Given the description of an element on the screen output the (x, y) to click on. 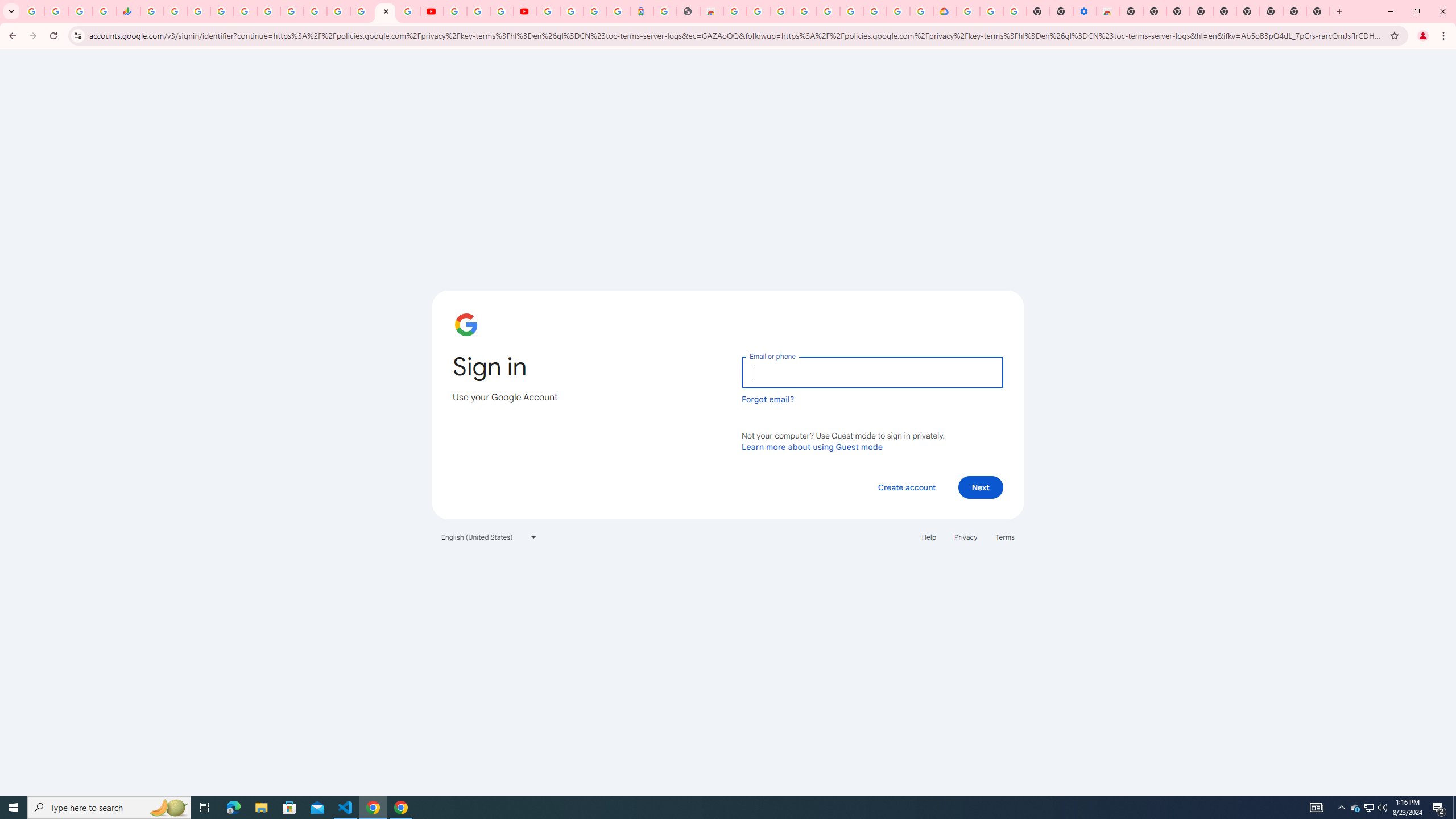
Google Account Help (850, 11)
Sign in - Google Accounts (221, 11)
Sign in - Google Accounts (384, 11)
Google Account Help (478, 11)
Sign in - Google Accounts (827, 11)
New Tab (1318, 11)
Sign in - Google Accounts (571, 11)
Ad Settings (804, 11)
Sign in - Google Accounts (968, 11)
